Given the description of an element on the screen output the (x, y) to click on. 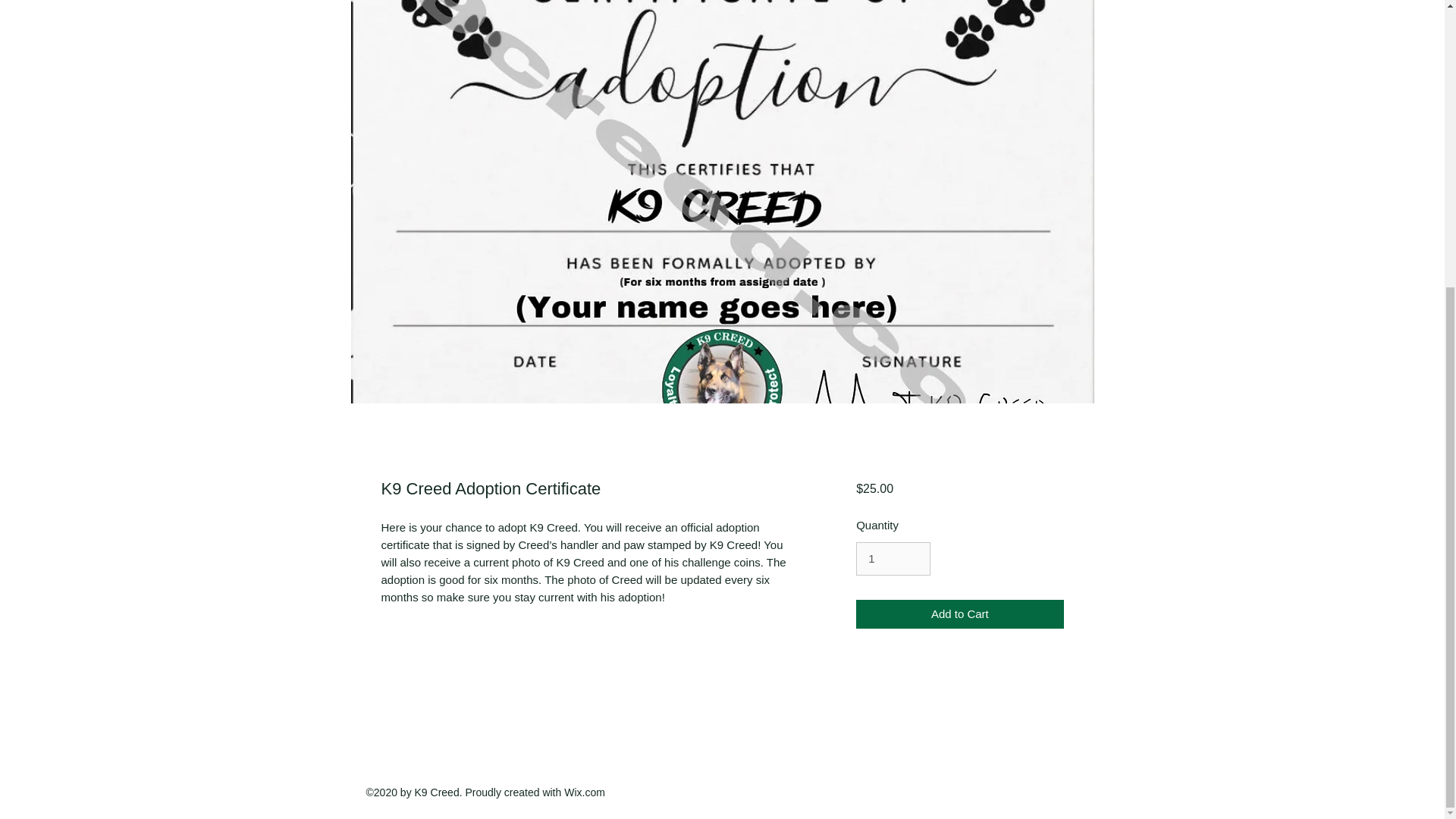
Add to Cart (959, 614)
1 (893, 558)
